Given the description of an element on the screen output the (x, y) to click on. 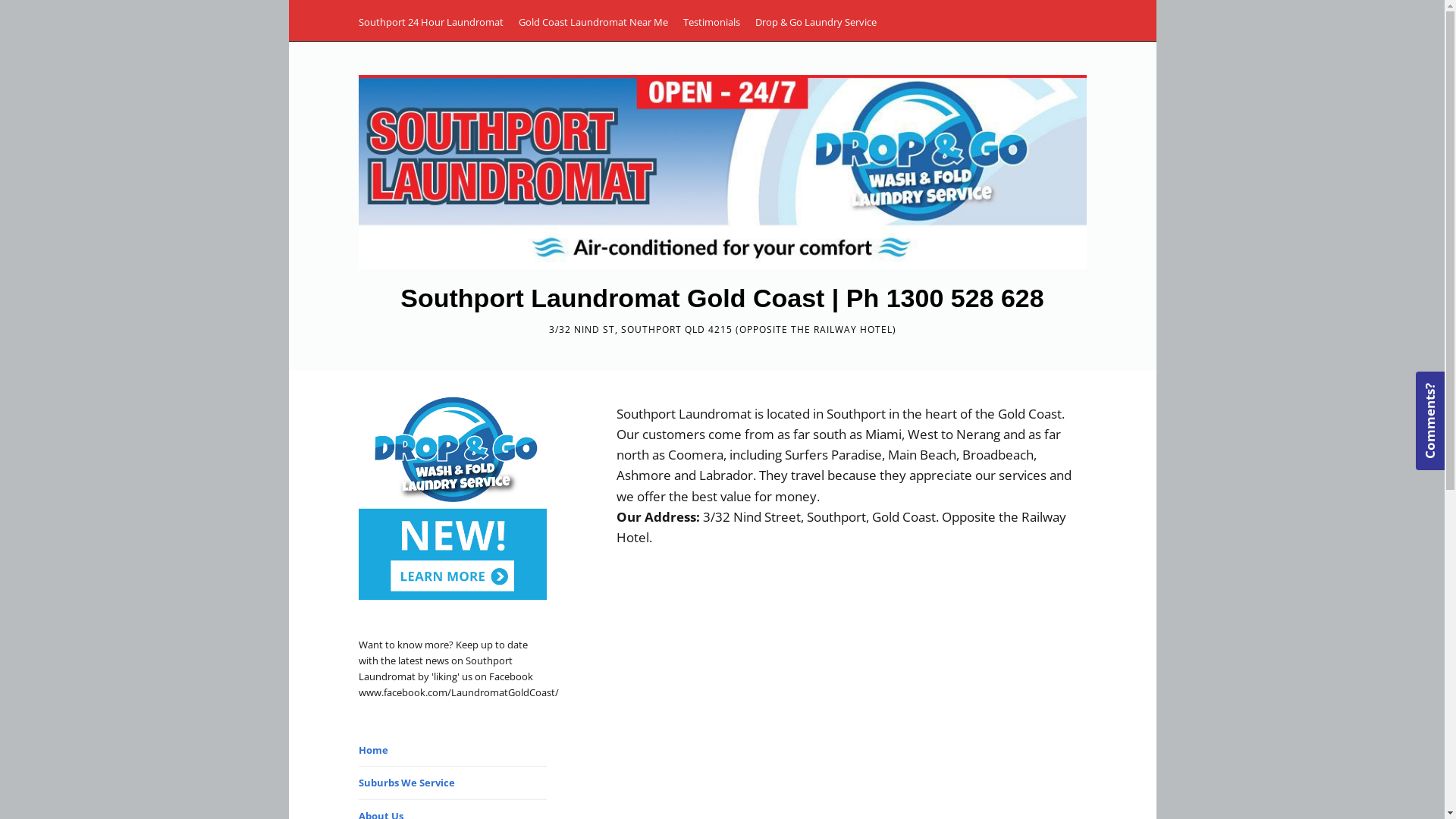
Southport 24 Hour Laundromat Element type: text (429, 21)
Testimonials Element type: text (710, 21)
Suburbs We Service Element type: text (405, 782)
Gold Coast Laundromat Near Me Element type: text (593, 21)
Home Element type: text (372, 749)
Drop & Go Laundry Service Element type: text (815, 21)
Southport Laundromat Gold Coast | Ph 1300 528 628 Element type: text (721, 297)
